Given the description of an element on the screen output the (x, y) to click on. 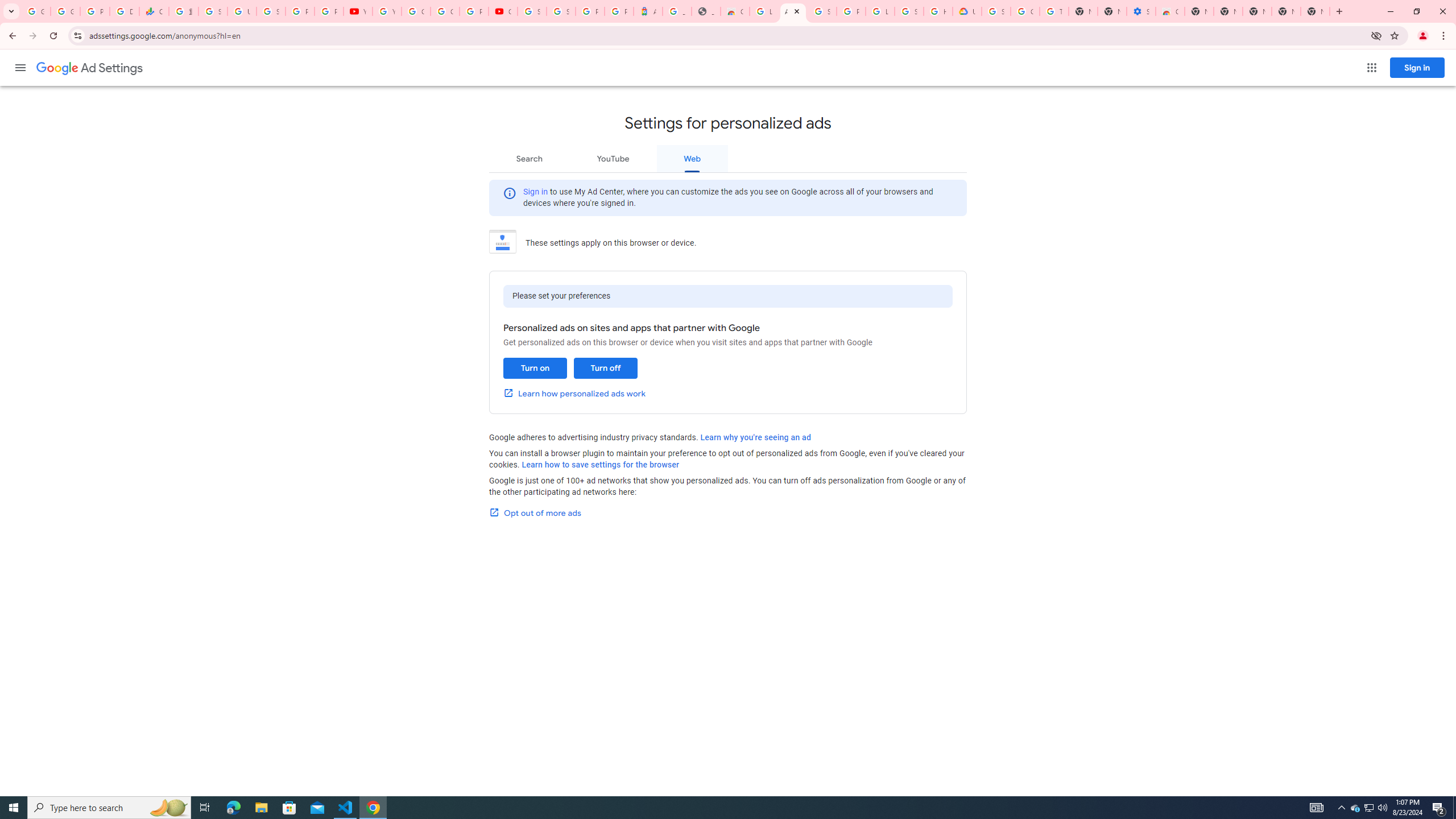
Sign in - Google Accounts (271, 11)
Google Workspace Admin Community (35, 11)
YouTube (612, 157)
Chrome Web Store - Accessibility extensions (1169, 11)
Turn ads based on your interests off. (605, 367)
Turn ads based on your interests on. (534, 367)
Google apps (1371, 67)
